Given the description of an element on the screen output the (x, y) to click on. 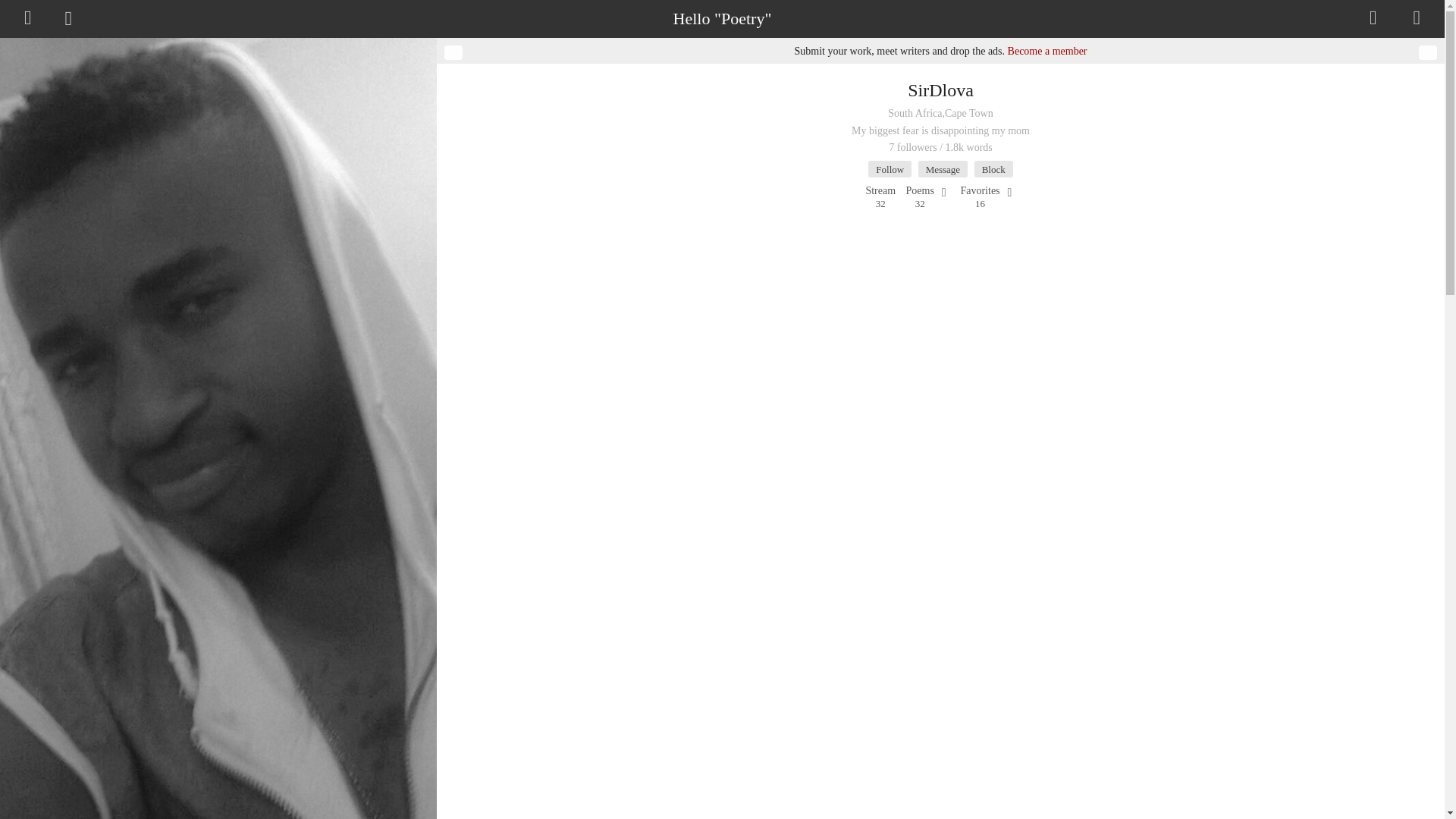
Become a member (1047, 50)
Block (993, 168)
SirDlova (919, 191)
Follow (940, 90)
Message (889, 168)
1.8k words (879, 191)
Request an invite (978, 191)
Log in to your account (943, 168)
Hello "Poetry" (968, 147)
7 followers (1372, 18)
